Given the description of an element on the screen output the (x, y) to click on. 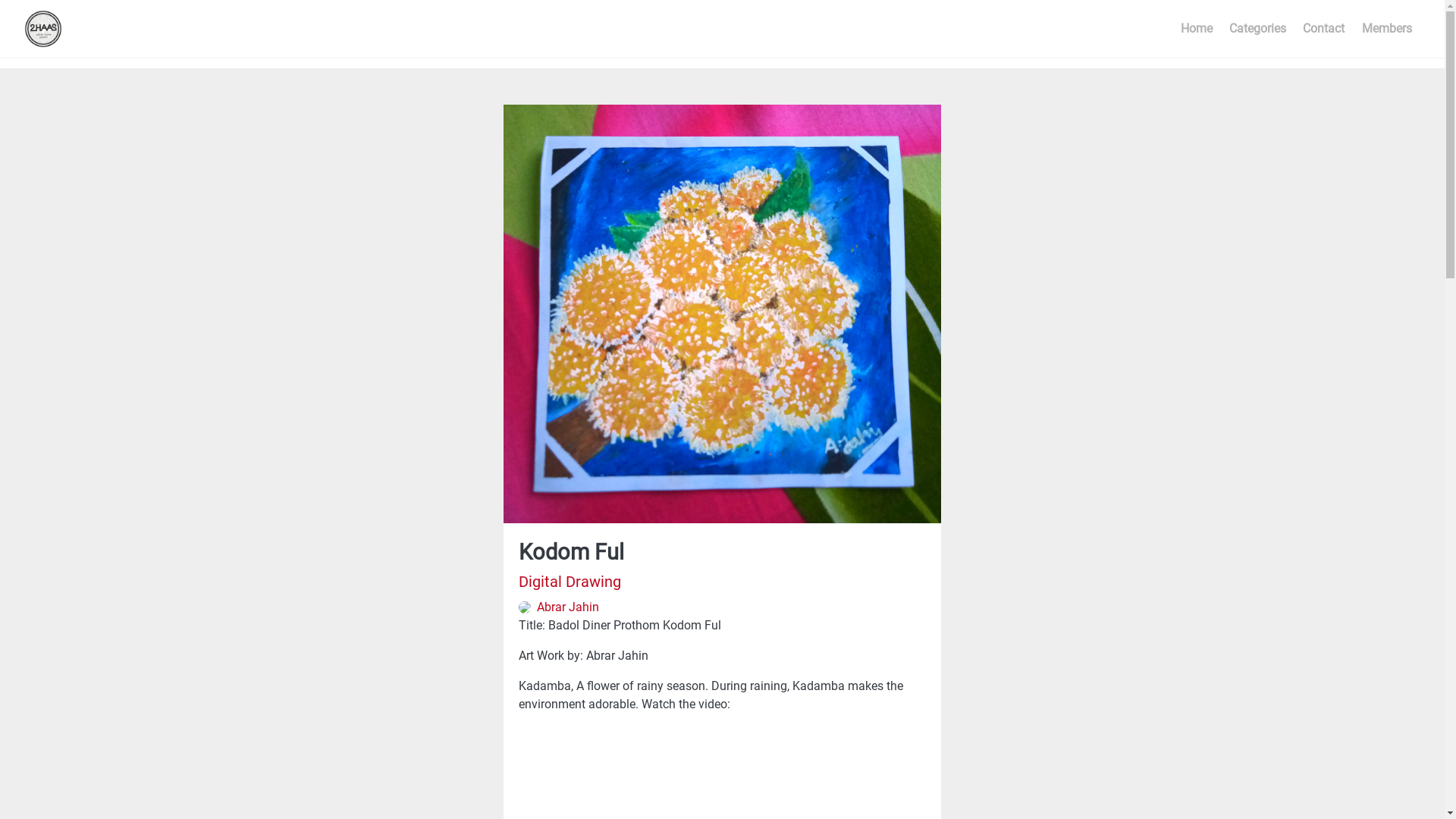
Members Element type: text (1386, 28)
Categories Element type: text (1257, 28)
Home Element type: text (1196, 28)
Abrar Jahin Element type: text (558, 606)
Contact Element type: text (1323, 28)
Digital Drawing Element type: text (569, 581)
